Given the description of an element on the screen output the (x, y) to click on. 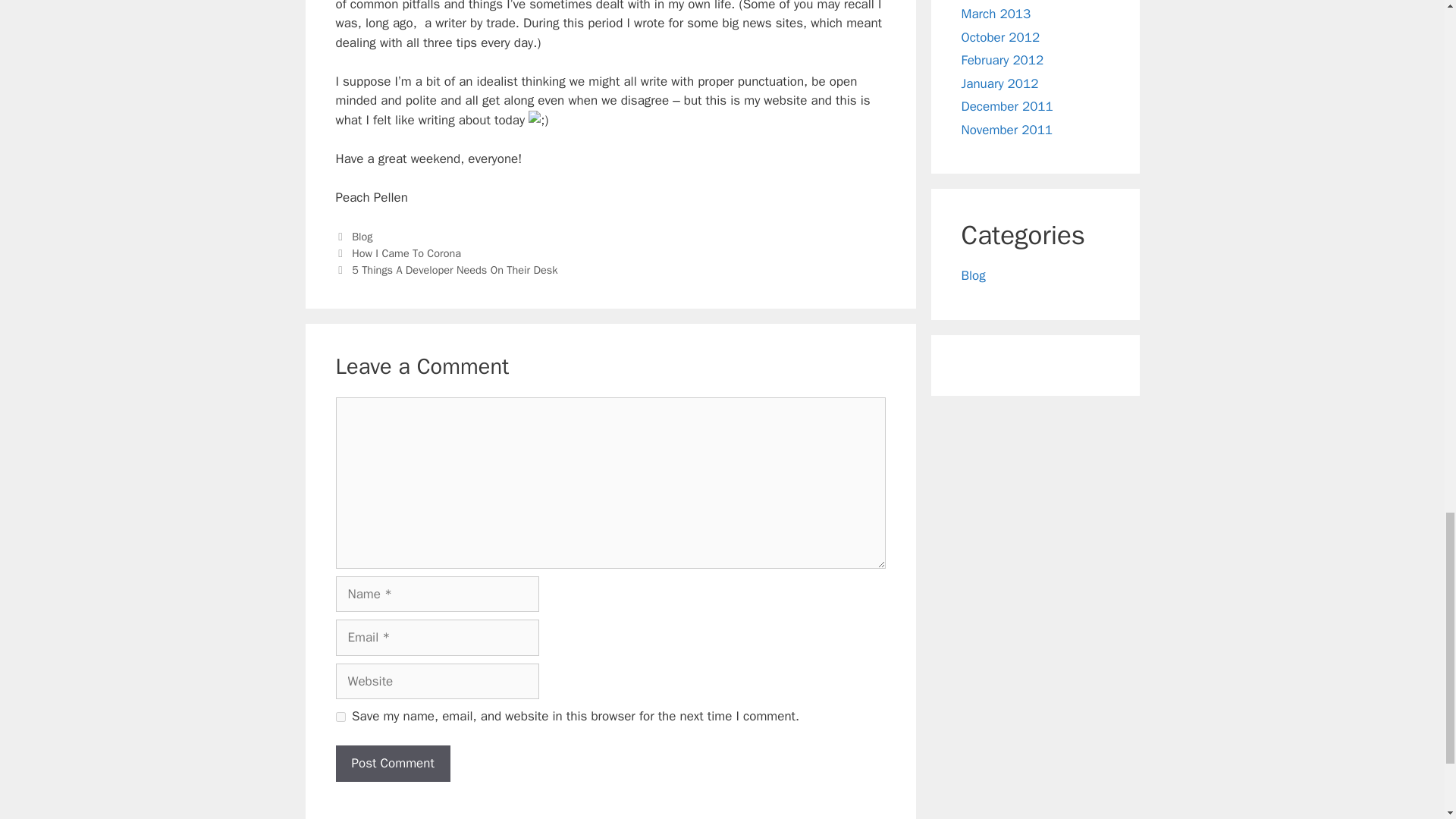
December 2011 (1006, 106)
March 2013 (995, 13)
Blog (972, 275)
How I Came To Corona (406, 253)
October 2012 (1000, 37)
January 2012 (999, 83)
February 2012 (1001, 59)
November 2011 (1006, 130)
5 Things A Developer Needs On Their Desk (454, 269)
Post Comment (391, 763)
yes (339, 716)
Blog (362, 236)
Post Comment (391, 763)
